Given the description of an element on the screen output the (x, y) to click on. 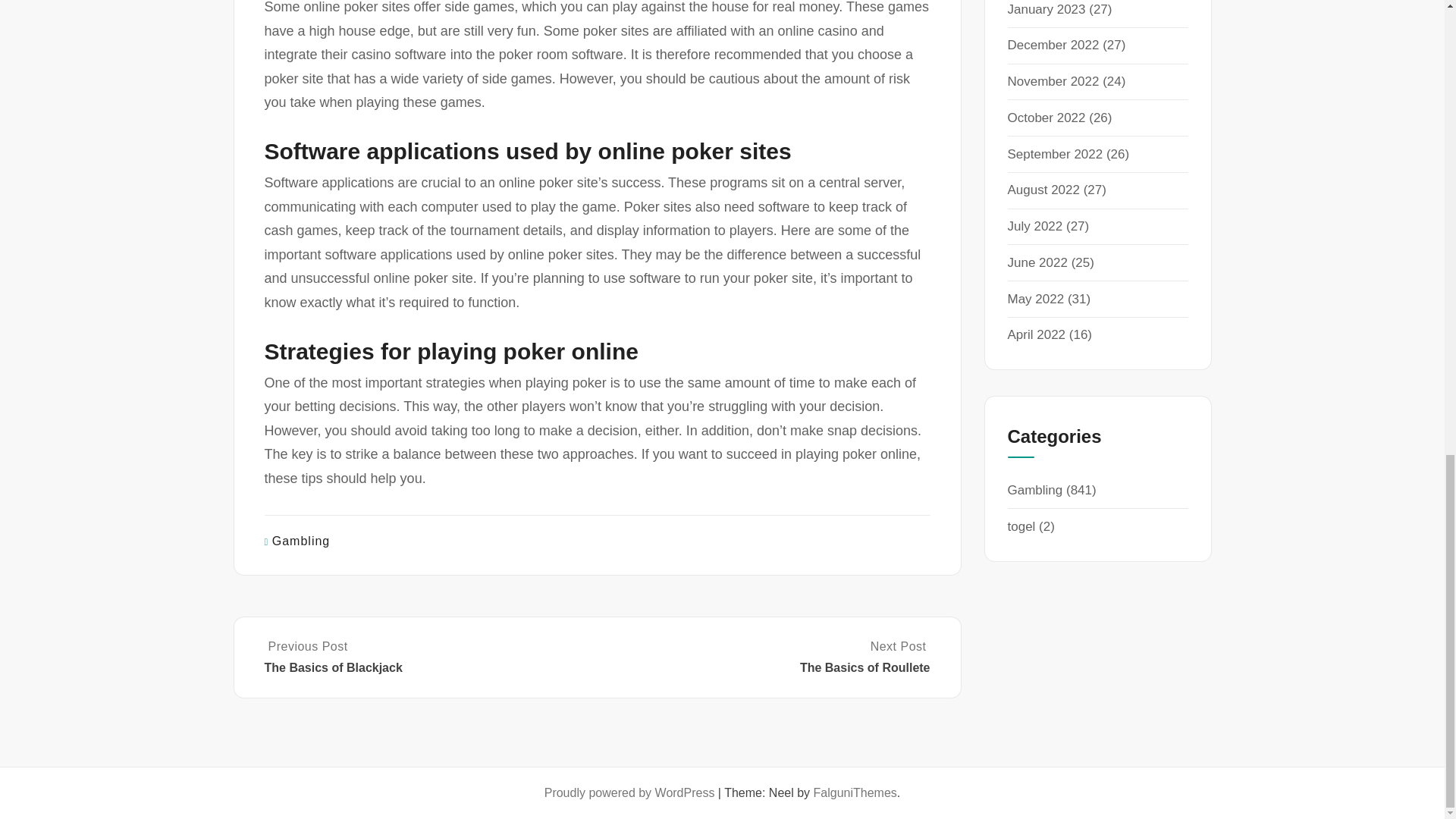
December 2022 (1053, 44)
September 2022 (1054, 154)
November 2022 (1053, 81)
January 2023 (1045, 9)
Gambling (301, 540)
October 2022 (1045, 117)
